Given the description of an element on the screen output the (x, y) to click on. 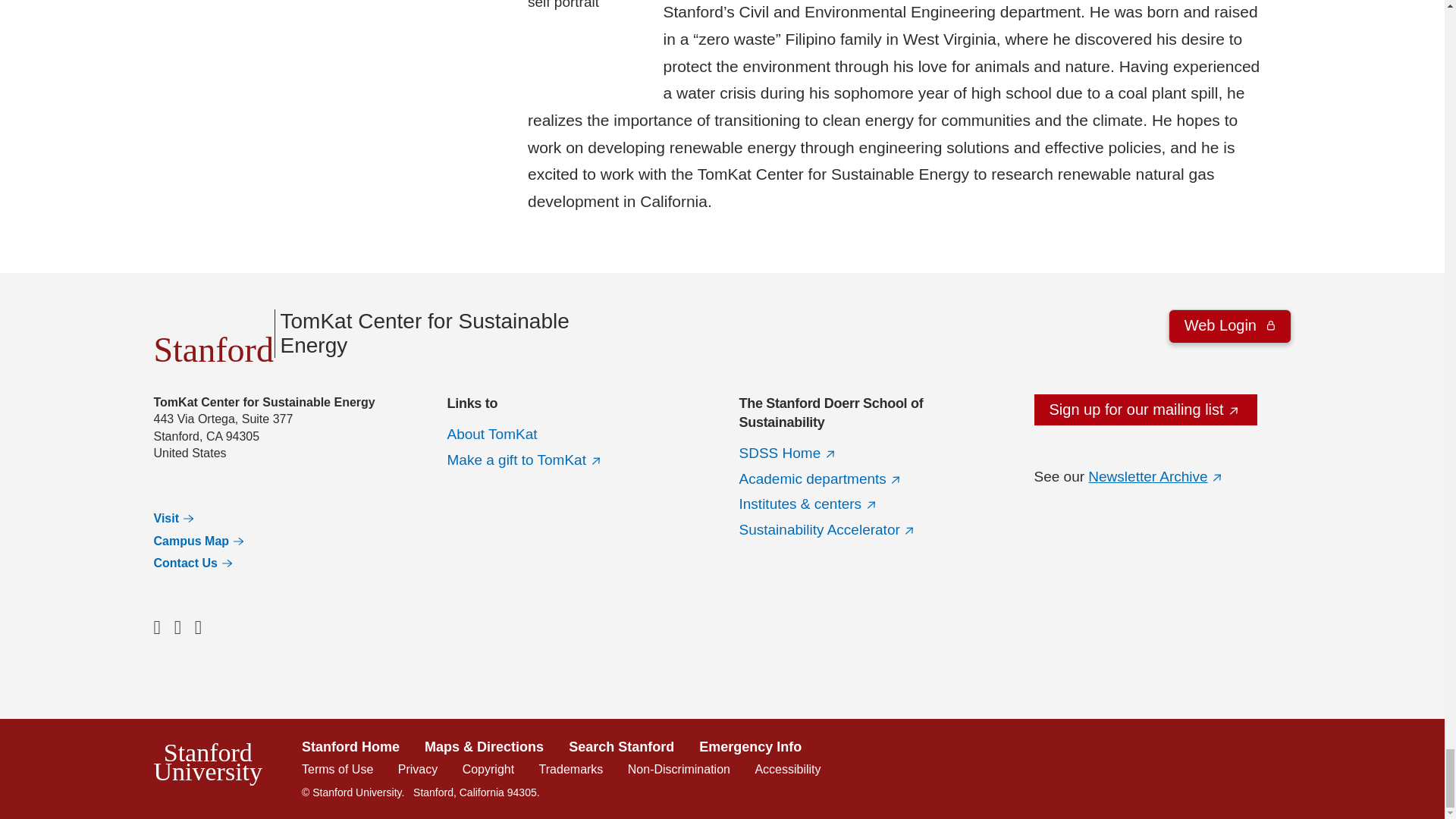
Privacy and cookie policy (417, 768)
Report web accessibility issues (787, 768)
Terms of use for sites (336, 768)
Report alleged copyright infringement (488, 768)
Ownership and use of Stanford trademarks and images (571, 768)
Non-discrimination policy (678, 768)
